Given the description of an element on the screen output the (x, y) to click on. 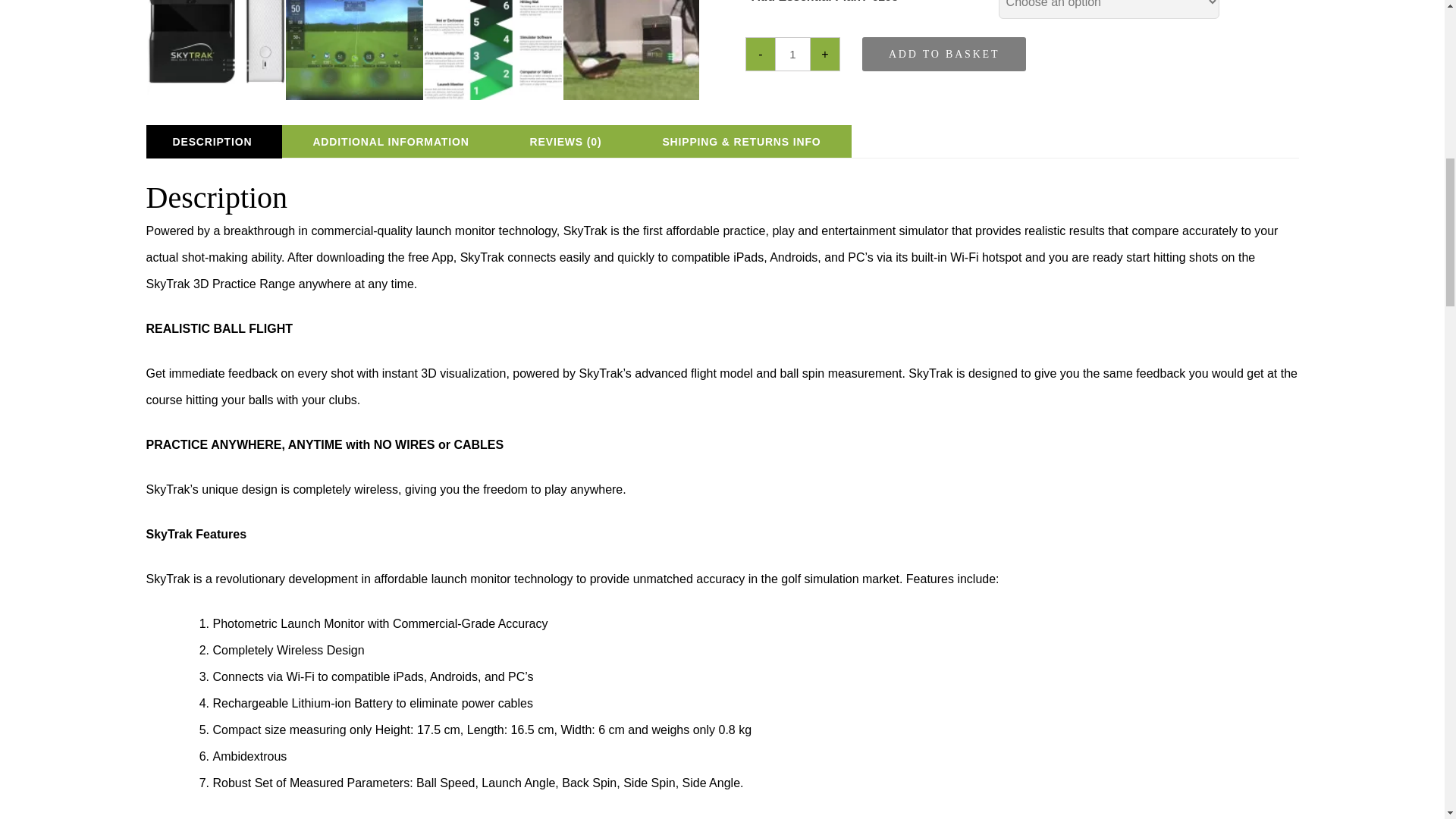
1 (792, 53)
